Given the description of an element on the screen output the (x, y) to click on. 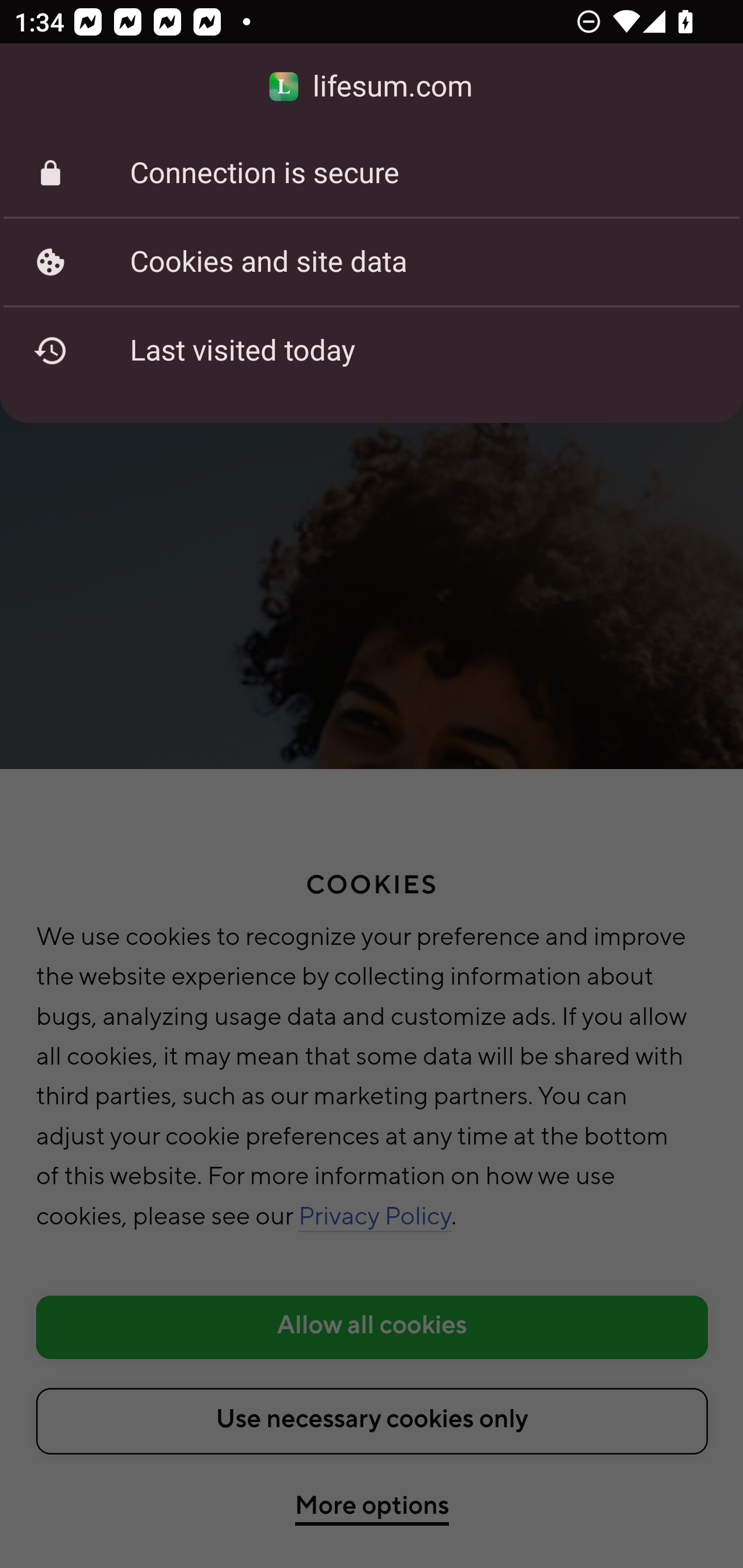
lifesum.com (371, 86)
Connection is secure (371, 173)
Cookies and site data (371, 261)
Last visited today (371, 350)
